Given the description of an element on the screen output the (x, y) to click on. 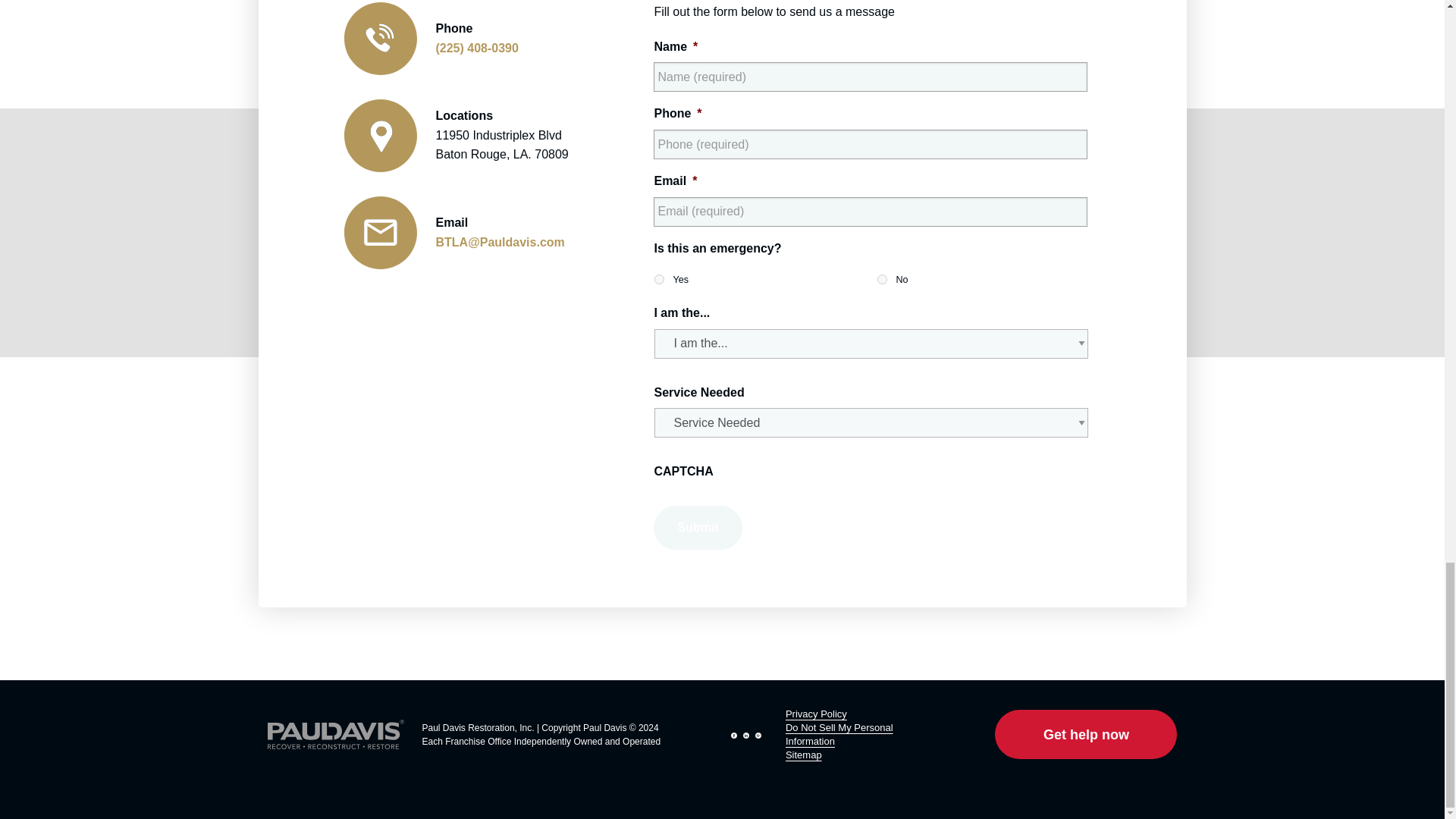
Submit (697, 527)
No (881, 279)
Yes (658, 279)
